Given the description of an element on the screen output the (x, y) to click on. 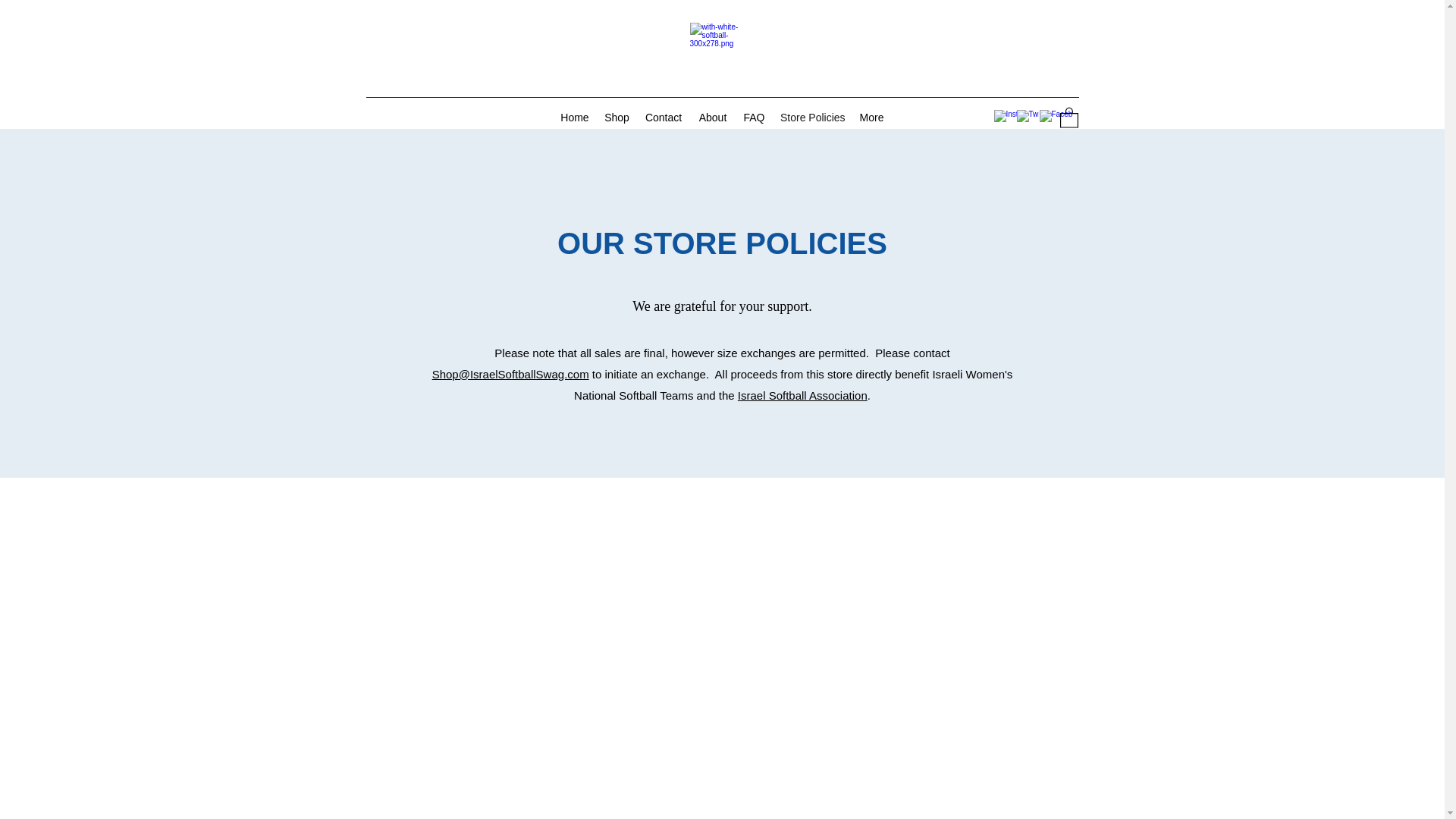
Home (574, 117)
Israel Softball Association (802, 395)
Contact (663, 117)
About (712, 117)
Store Policies (812, 117)
FAQ (754, 117)
Shop (616, 117)
